Given the description of an element on the screen output the (x, y) to click on. 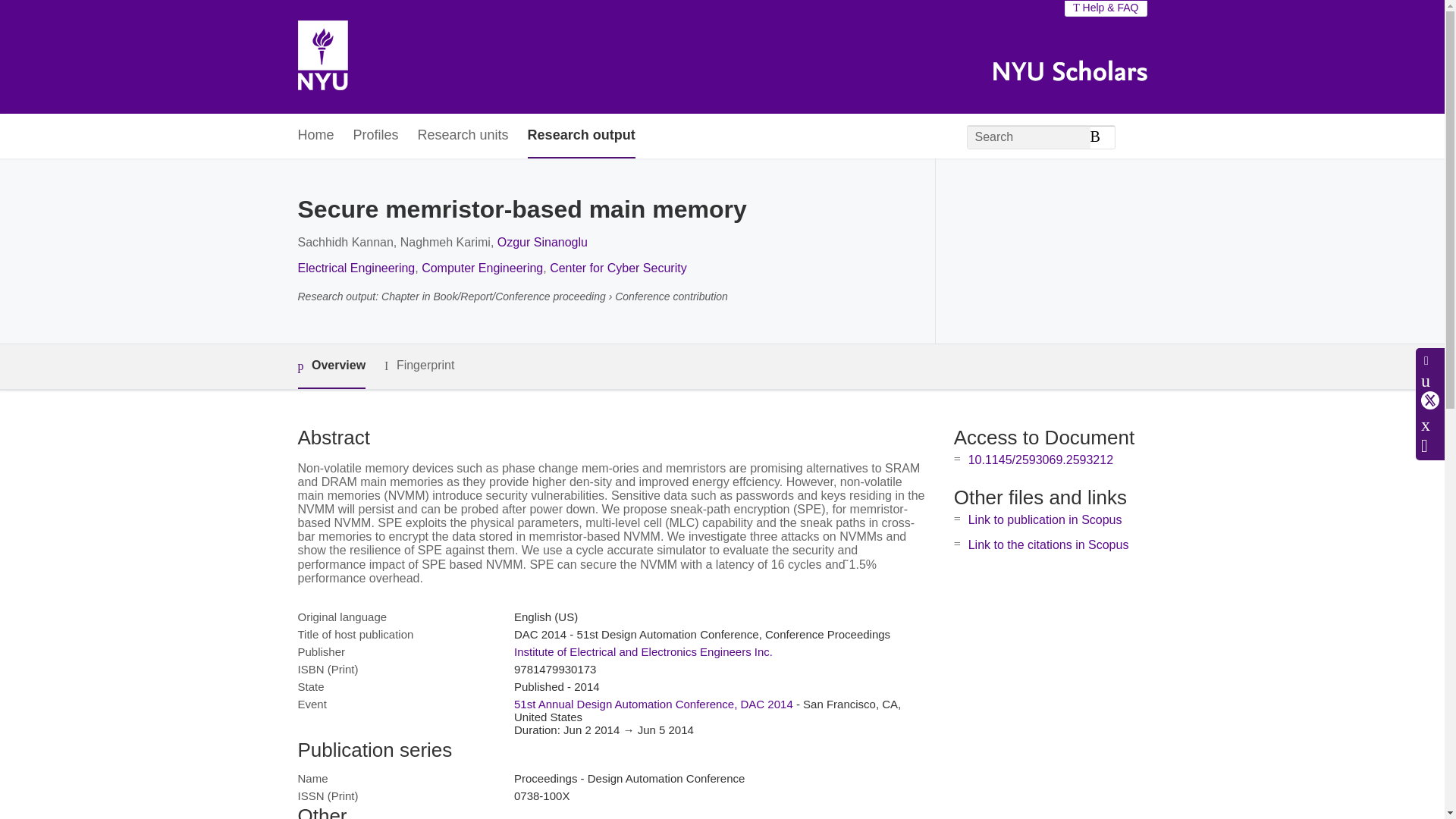
Research units (462, 135)
Ozgur Sinanoglu (542, 241)
Research output (580, 135)
Link to the citations in Scopus (1048, 544)
Fingerprint (419, 365)
Institute of Electrical and Electronics Engineers Inc. (643, 651)
Electrical Engineering (355, 267)
Overview (331, 366)
Link to publication in Scopus (1045, 519)
Profiles (375, 135)
Center for Cyber Security (618, 267)
Computer Engineering (482, 267)
51st Annual Design Automation Conference, DAC 2014 (653, 703)
